Given the description of an element on the screen output the (x, y) to click on. 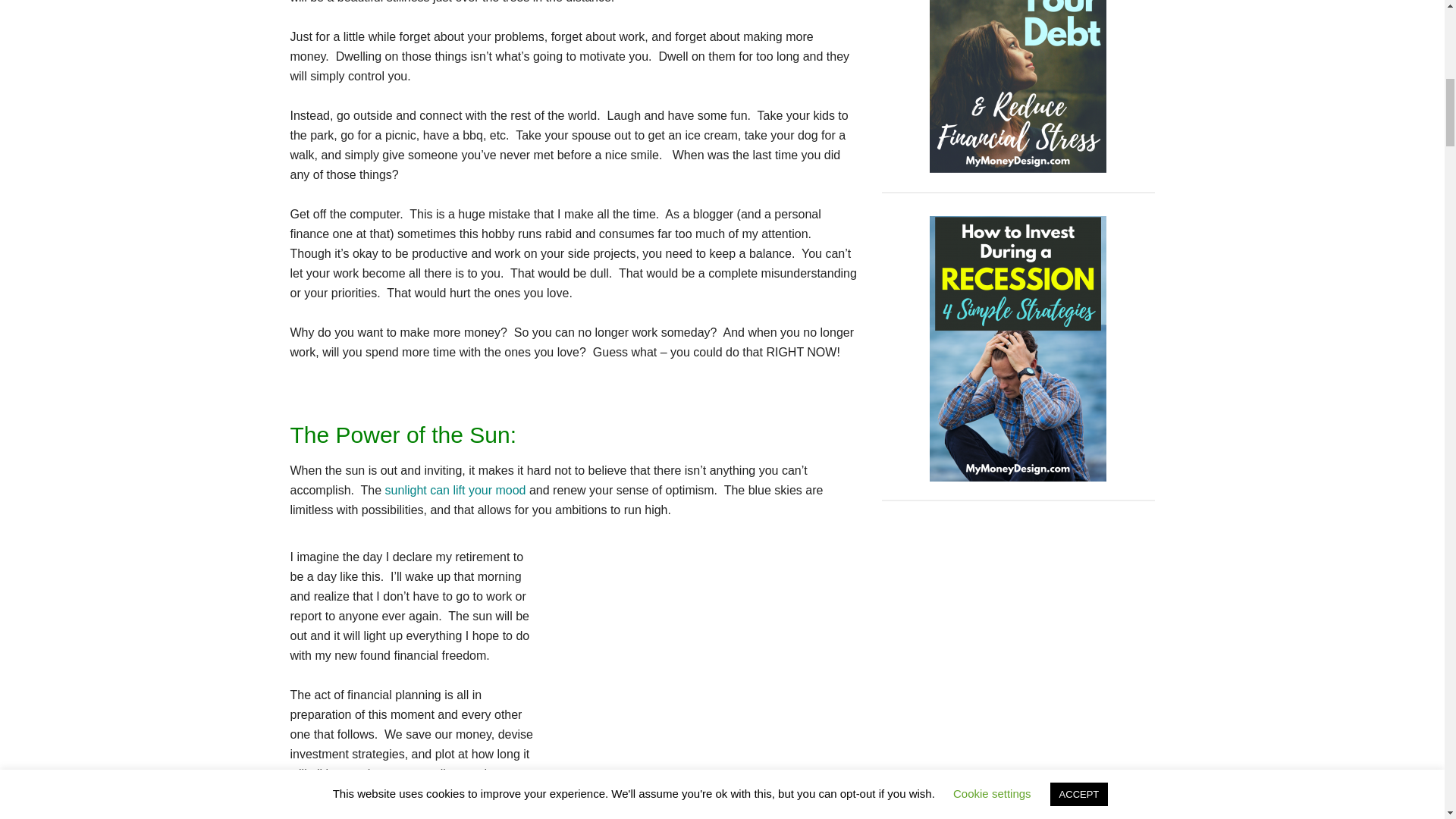
Swing Under Tree And Sea by worradmu (698, 660)
sunlight can lift your mood (455, 490)
Swing Under Tree And Sea by worradmu (706, 651)
